Given the description of an element on the screen output the (x, y) to click on. 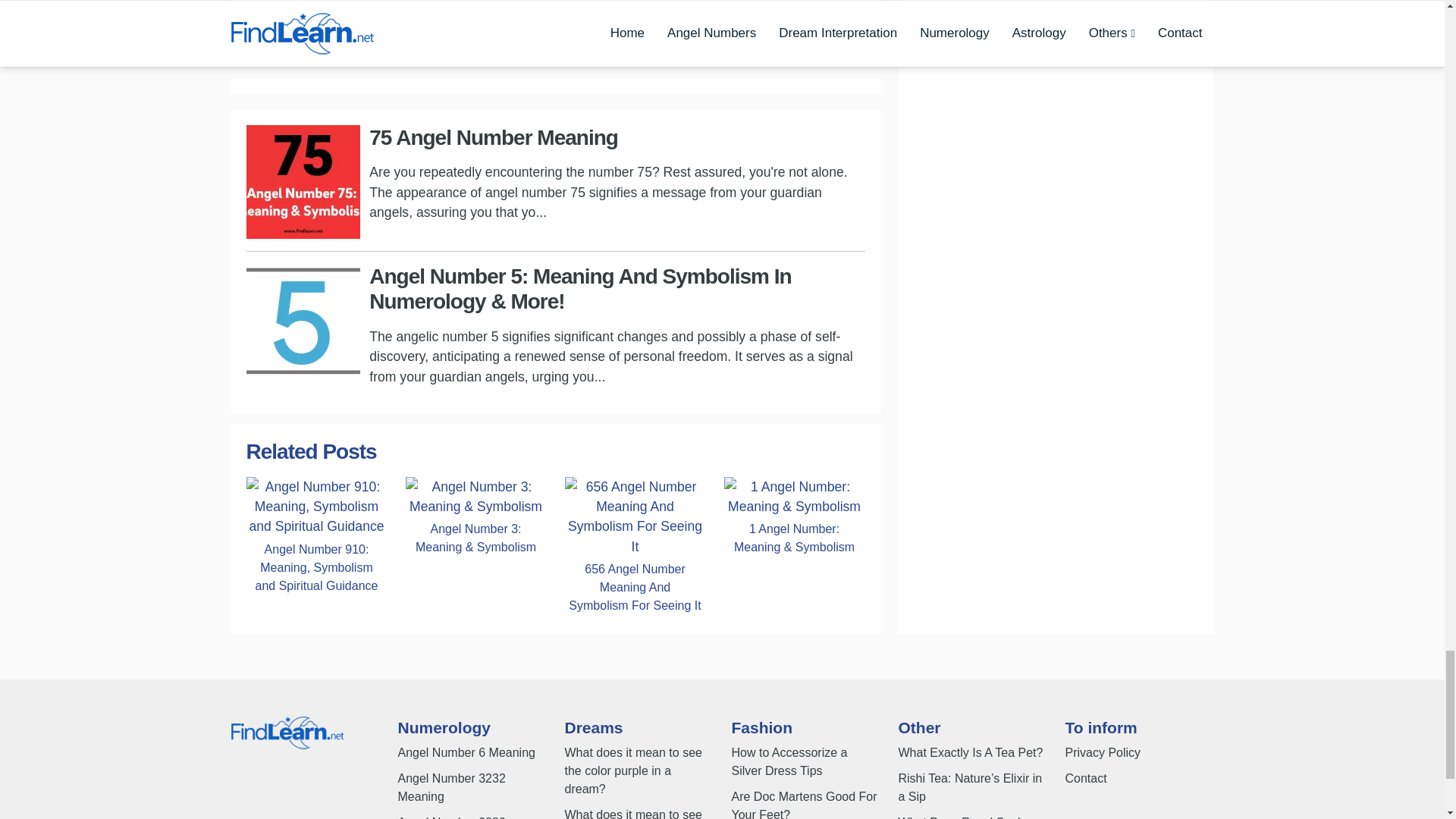
Angel Number 910: Meaning, Symbolism and Spiritual Guidance (316, 505)
Angel Number 910: Meaning, Symbolism and Spiritual Guidance (316, 567)
656 Angel Number Meaning And Symbolism For Seeing It (634, 587)
